Given the description of an element on the screen output the (x, y) to click on. 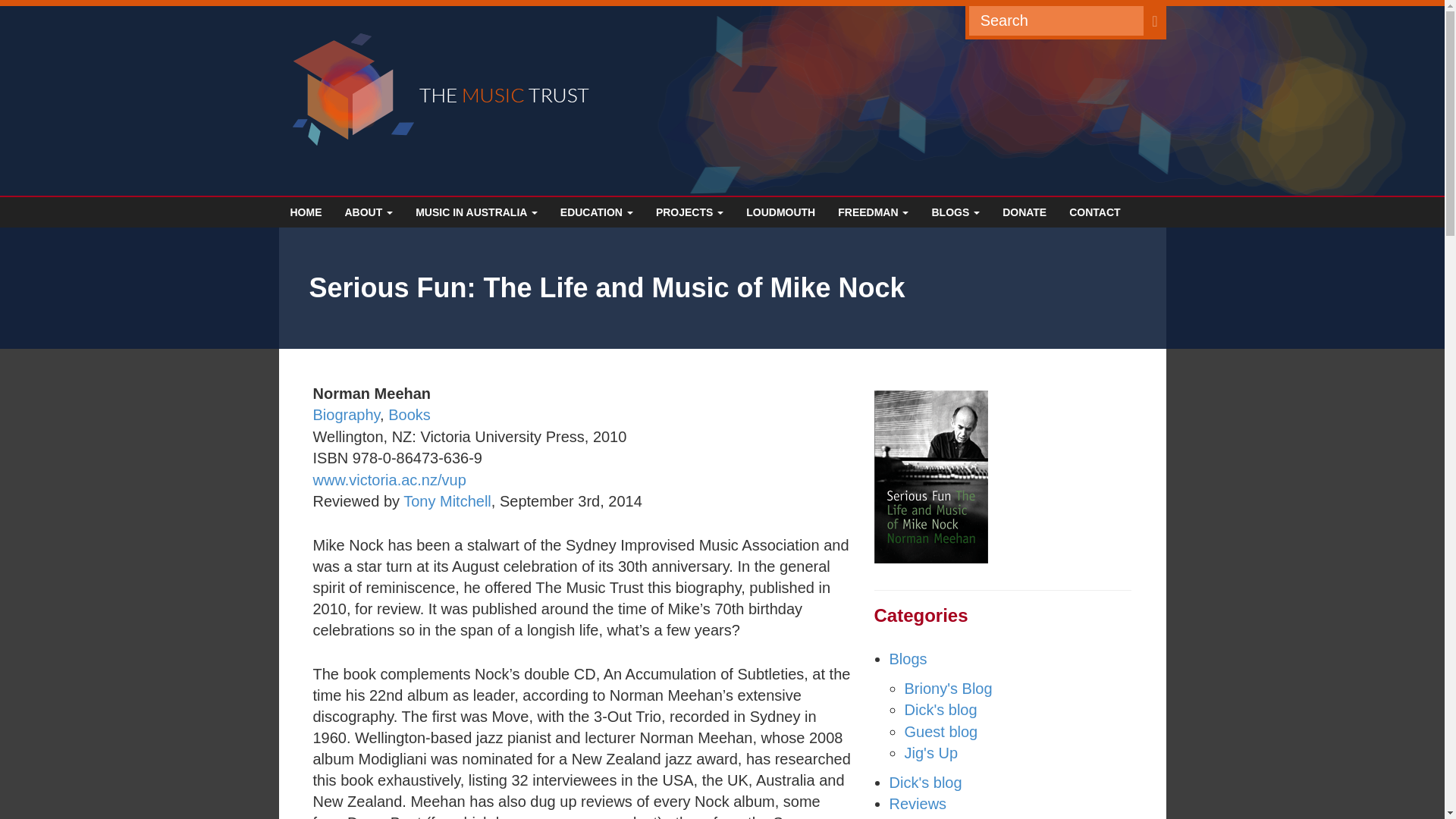
Posts by Tony Mitchell (447, 501)
ABOUT (368, 212)
HOME (306, 212)
Guest blog (955, 212)
MUSIC IN AUSTRALIA (476, 212)
